Given the description of an element on the screen output the (x, y) to click on. 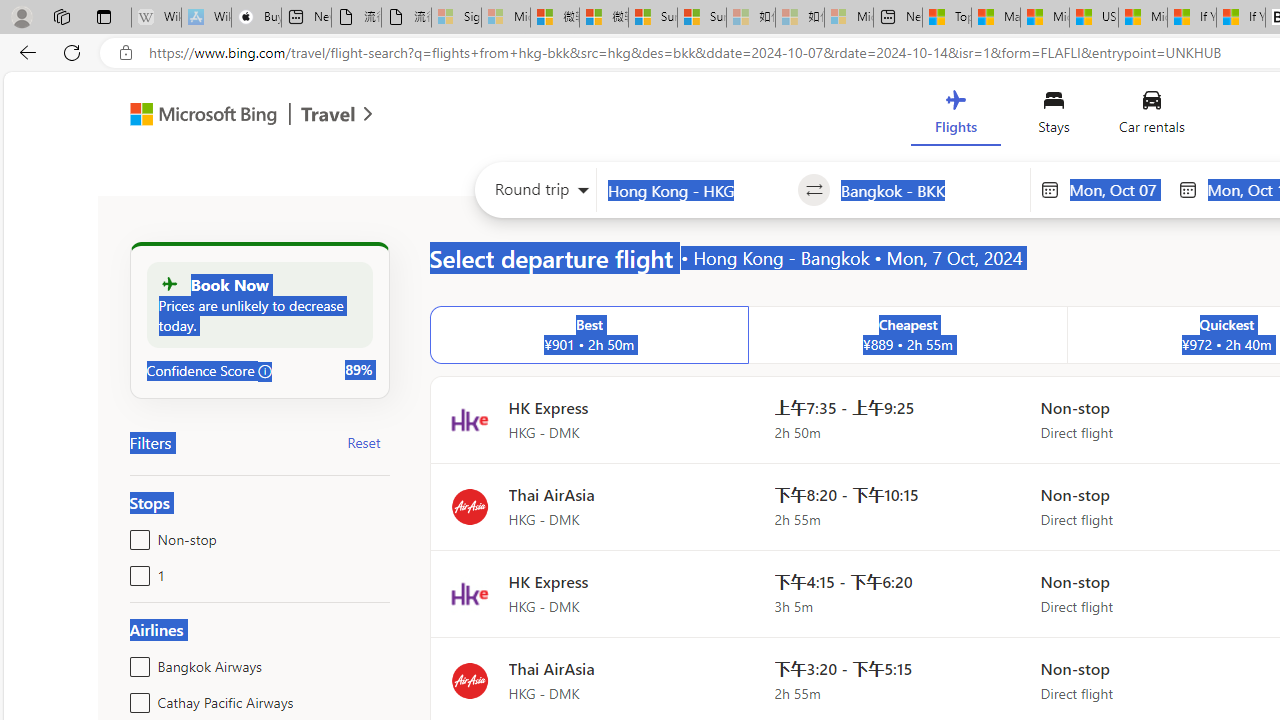
1 (136, 571)
Microsoft account | Account Checkup - Sleeping (848, 17)
Swap source and destination (813, 189)
Microsoft Bing (194, 116)
Class: msft-bing-logo msft-bing-logo-desktop (198, 114)
Flights (955, 116)
Travel (328, 116)
US Heat Deaths Soared To Record High Last Year (1093, 17)
Cathay Pacific Airways (136, 698)
Microsoft Bing Travel (229, 116)
Non-stop (136, 535)
Top Stories - MSN (946, 17)
